Given the description of an element on the screen output the (x, y) to click on. 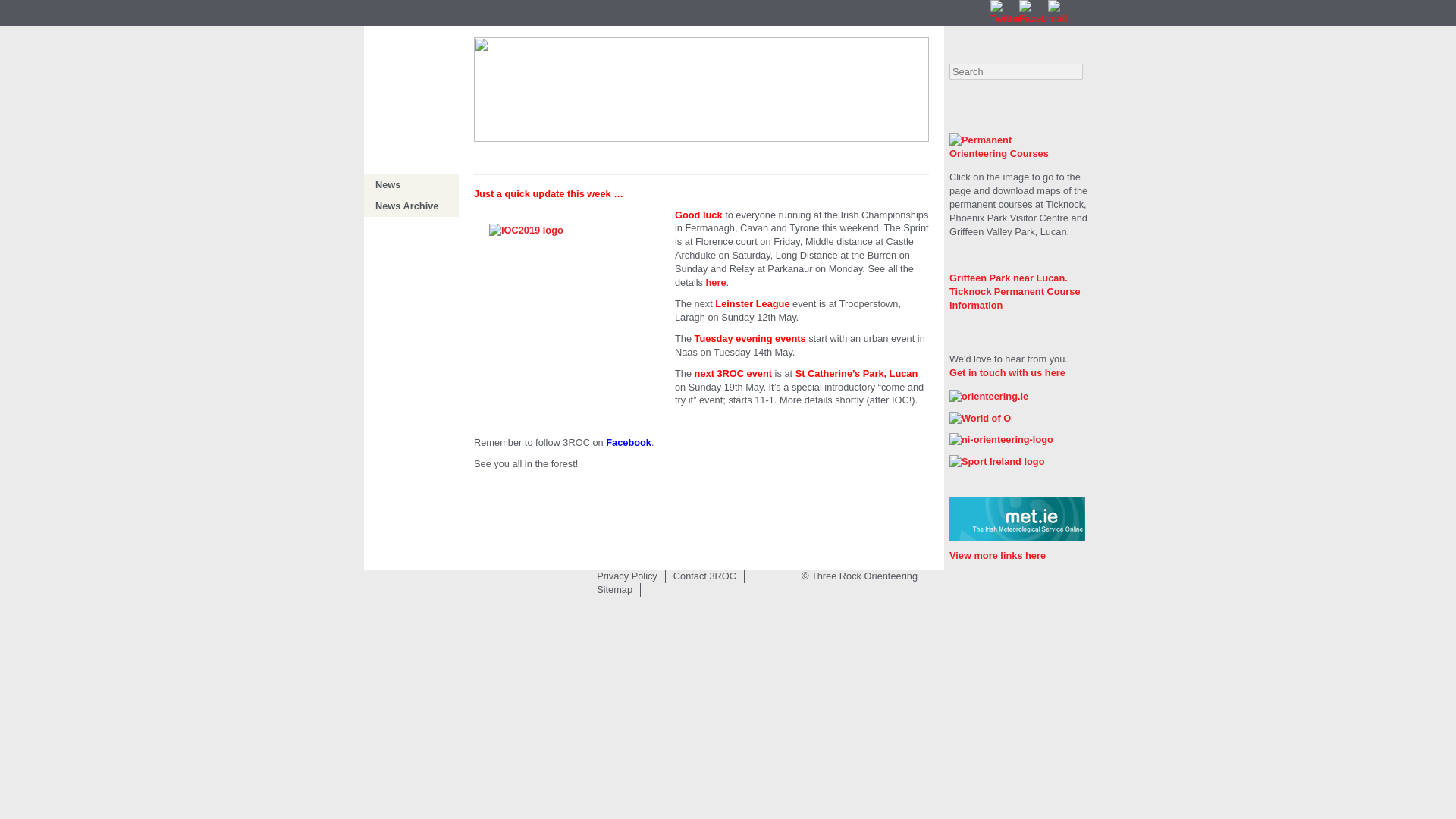
Griffeen Park near Lucan. (1008, 277)
News (387, 184)
Sitemap (614, 589)
here (716, 282)
Facebook (627, 441)
3Roc Orienteering Club (413, 78)
Get in touch with us here (1007, 372)
View more links here (997, 555)
News Archive (406, 205)
Ticknock Permanent Course information (1014, 298)
